Given the description of an element on the screen output the (x, y) to click on. 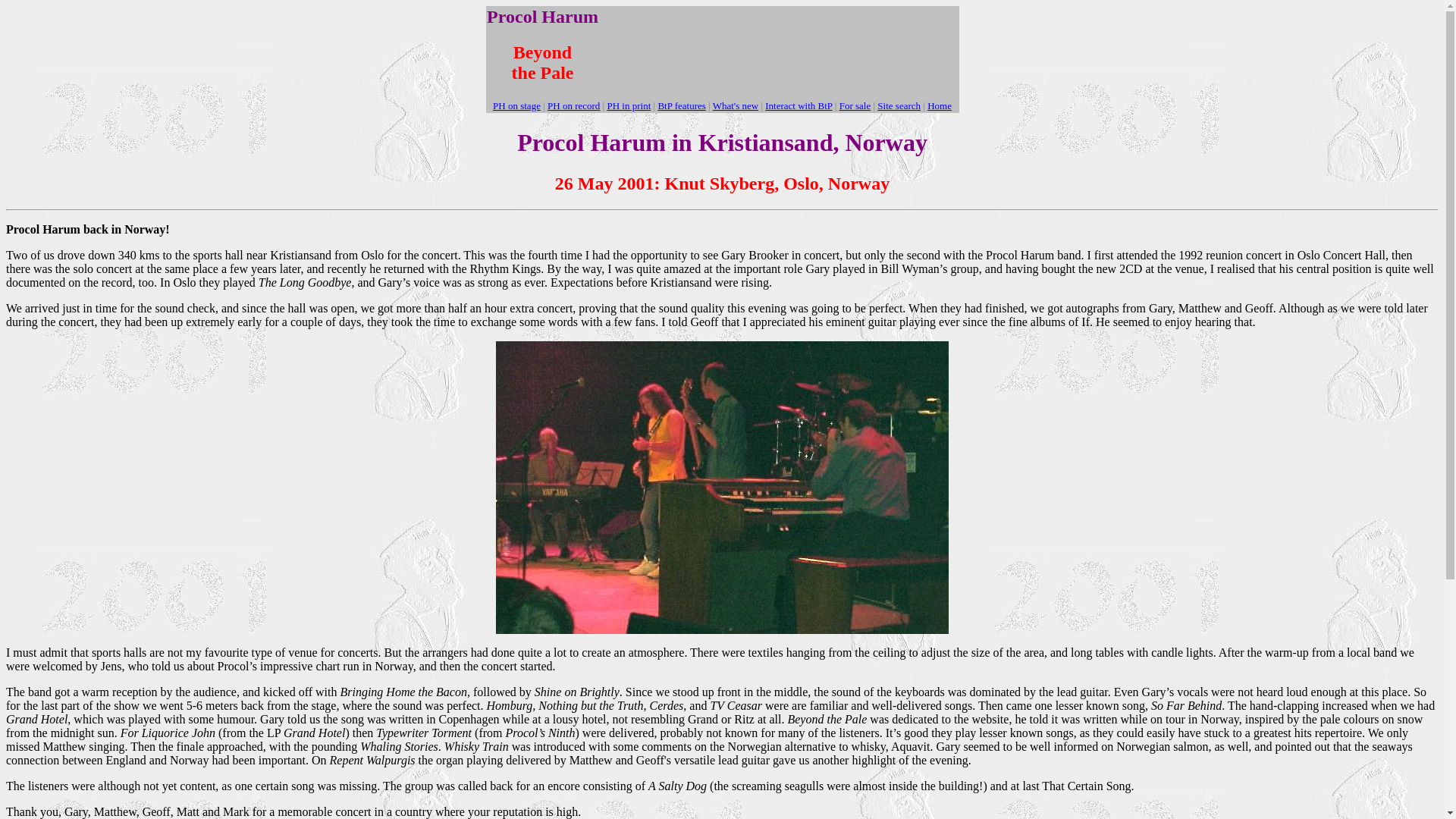
Interact with BtP (798, 104)
PH in print (628, 104)
PH on record (573, 104)
Home (939, 104)
BtP features (681, 104)
What's new (735, 104)
For sale (855, 104)
Site search (898, 104)
PH on stage (516, 104)
